Given the description of an element on the screen output the (x, y) to click on. 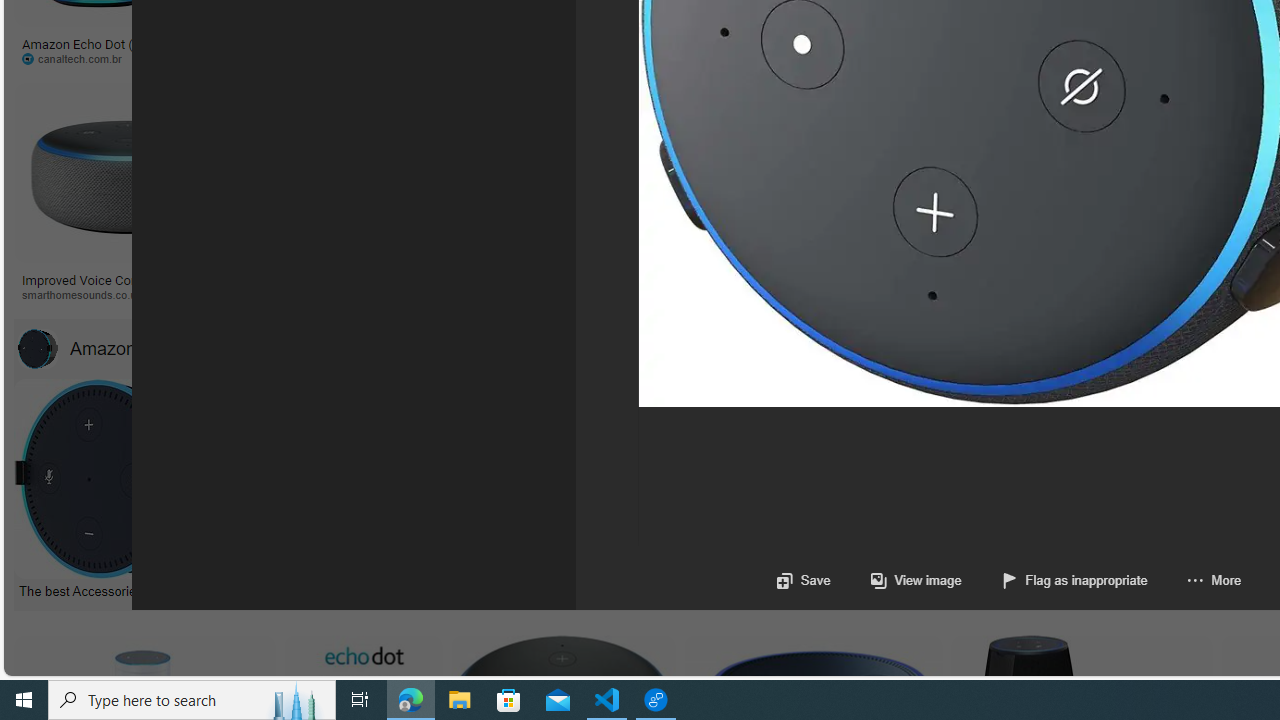
Amazon Echo Dot Accessories (37, 348)
Flag as inappropriate (1054, 580)
Amazon Echo Dot With Clock Review | Security.org (438, 279)
pricehistoryapp.com (486, 57)
canaltech.com.br (78, 57)
security.org (294, 294)
